Given the description of an element on the screen output the (x, y) to click on. 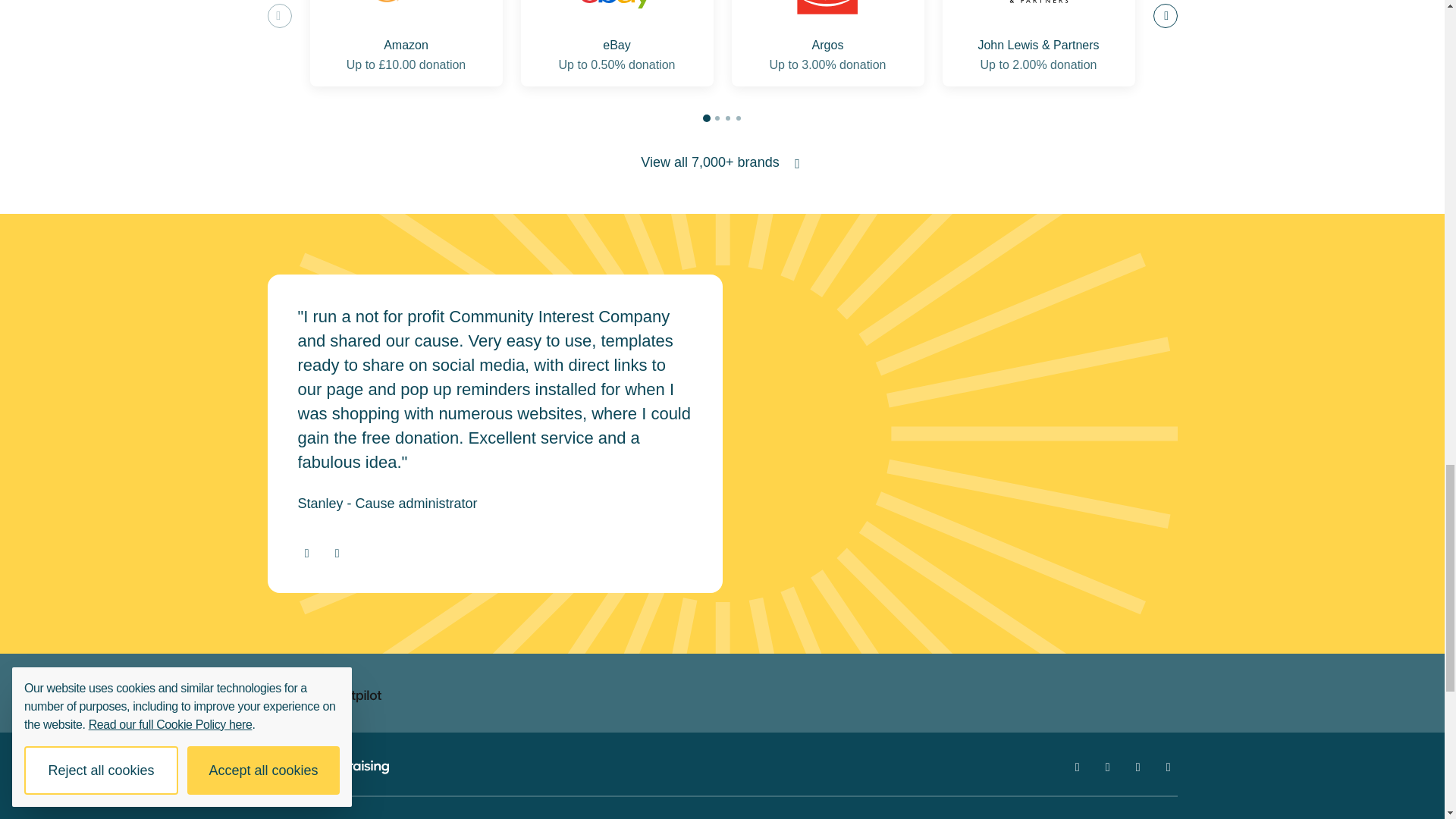
Argos (827, 9)
Amazon (405, 9)
Customer reviews powered by Trustpilot (342, 693)
eBay (617, 9)
